Given the description of an element on the screen output the (x, y) to click on. 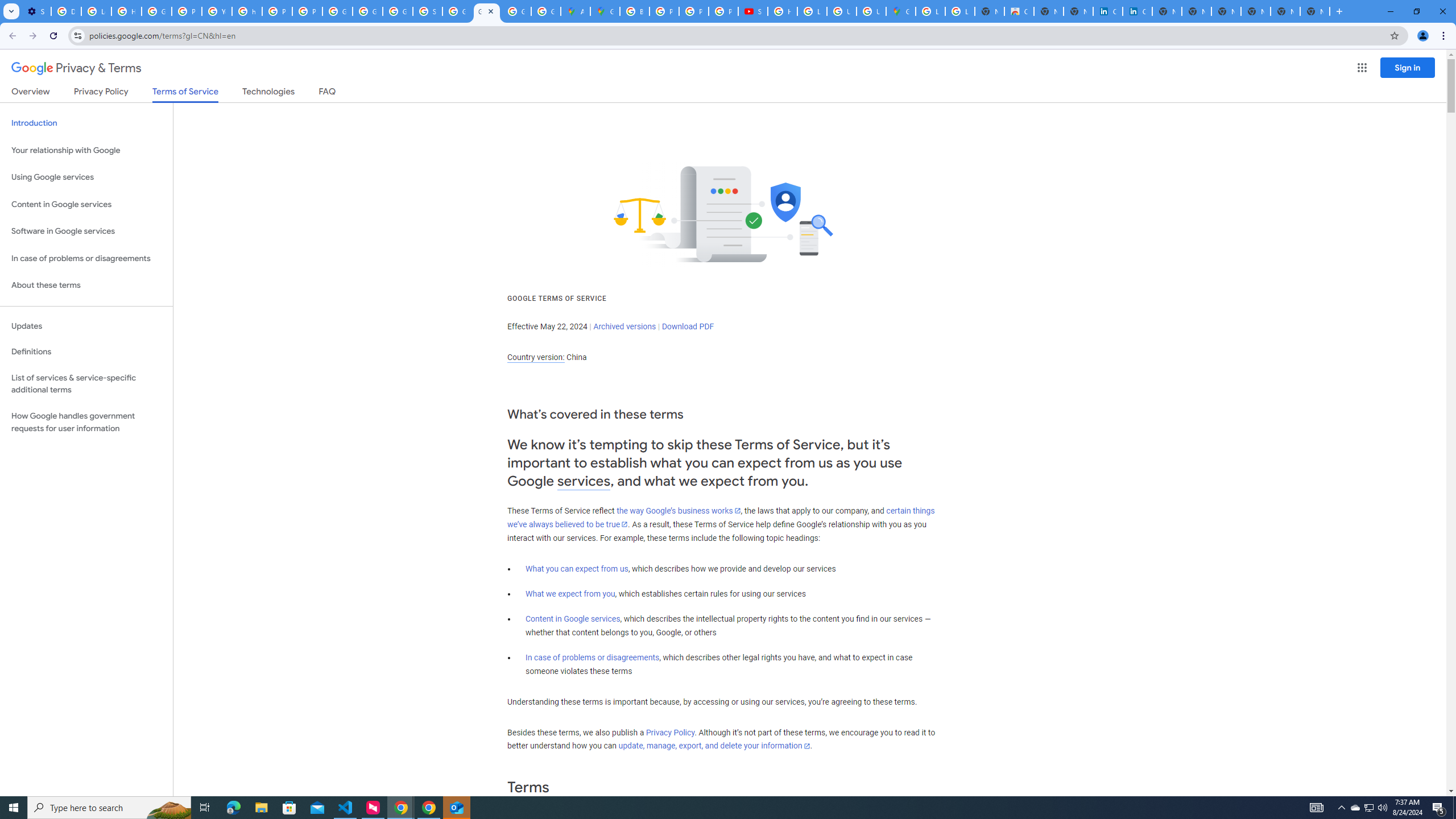
Subscriptions - YouTube (753, 11)
Your relationship with Google (86, 150)
Privacy Help Center - Policies Help (693, 11)
Settings - Customize profile (36, 11)
About these terms (86, 284)
Delete photos & videos - Computer - Google Photos Help (65, 11)
Cookie Policy | LinkedIn (1137, 11)
